Given the description of an element on the screen output the (x, y) to click on. 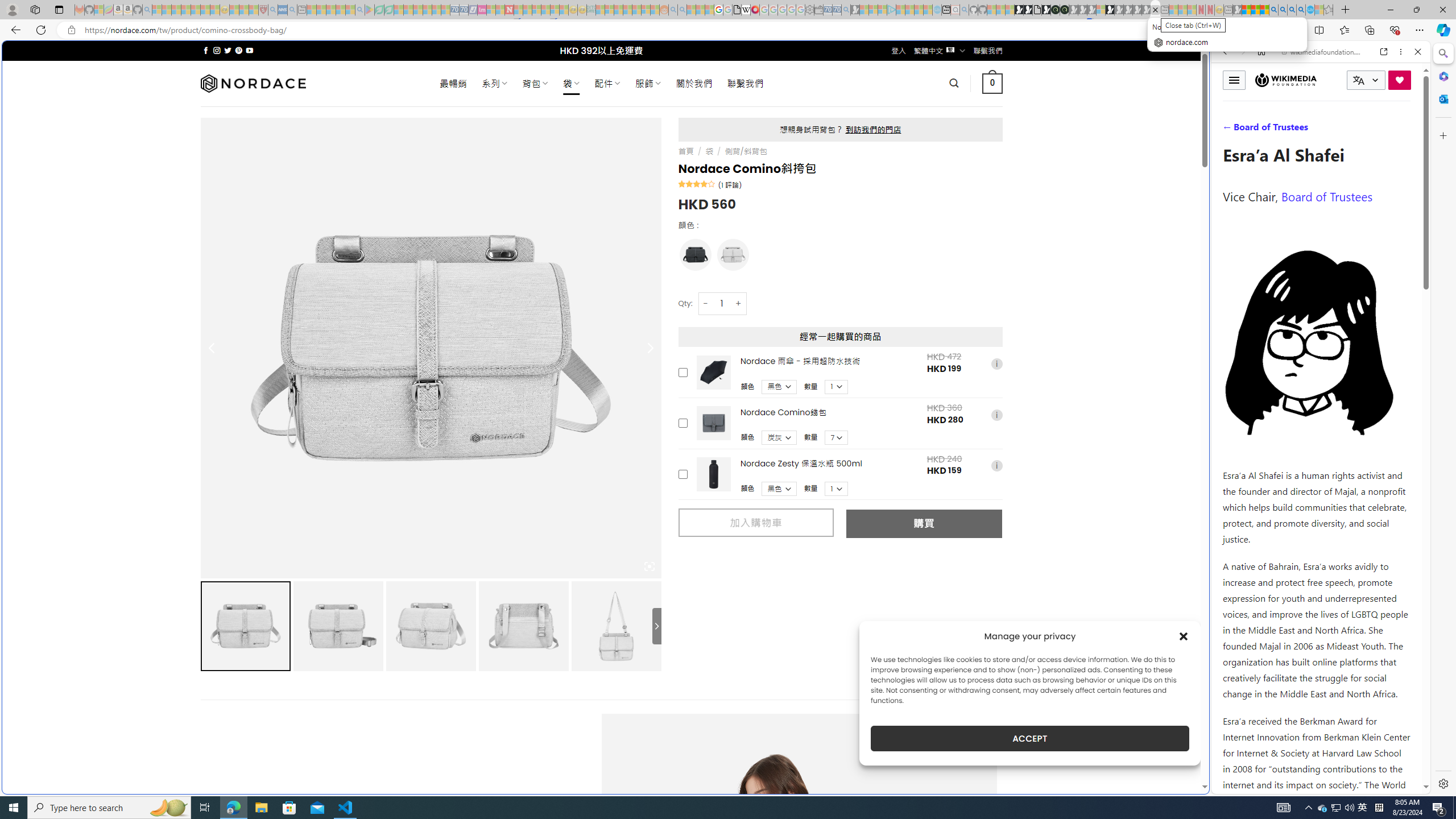
Nordace (252, 83)
Wiktionary (1315, 380)
Search Filter, IMAGES (1262, 129)
Search or enter web address (922, 108)
Refresh (40, 29)
New tab (727, 683)
Donate now (1399, 80)
